Given the description of an element on the screen output the (x, y) to click on. 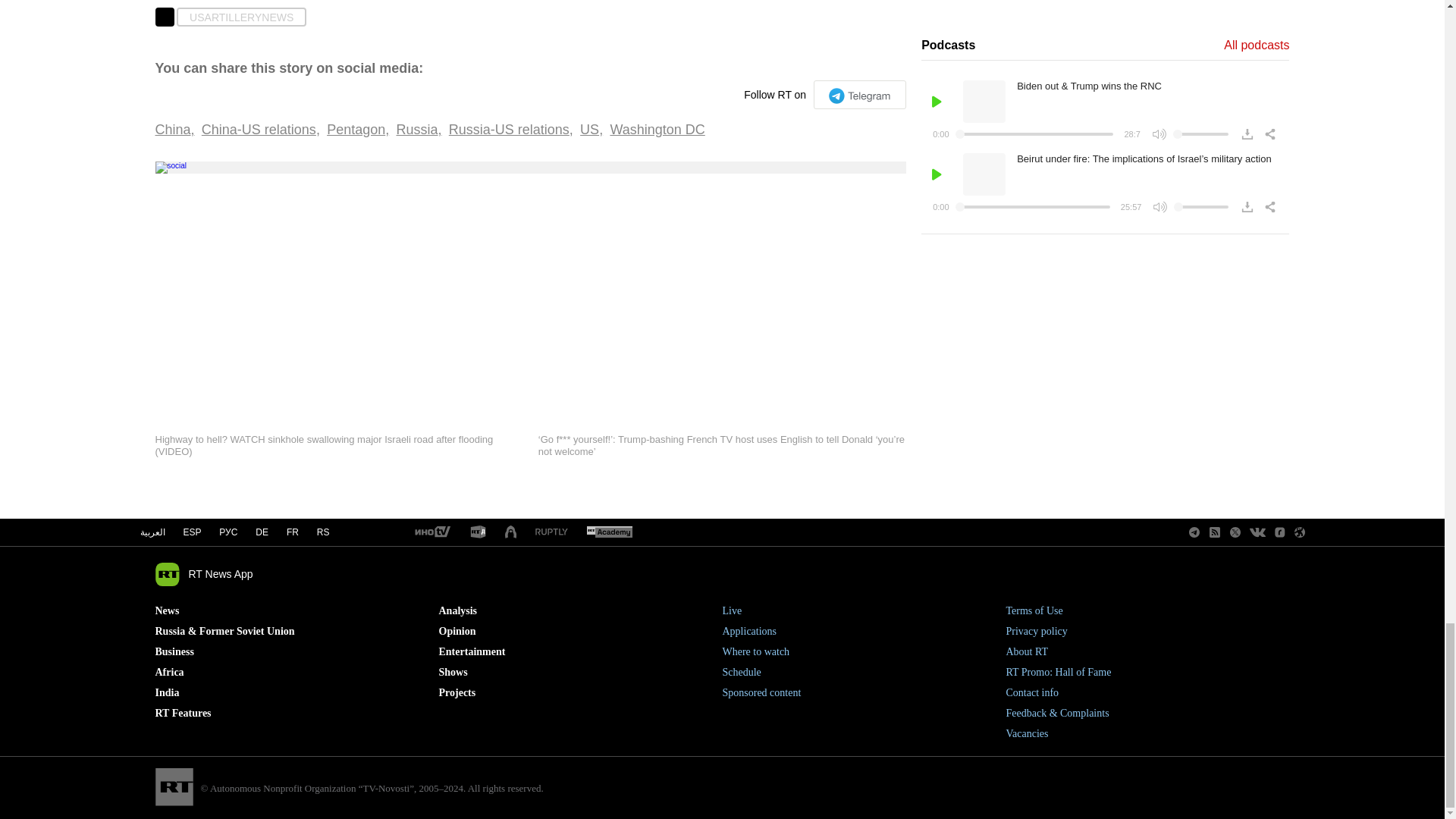
RT  (551, 532)
RT  (431, 532)
RT  (478, 532)
RT  (608, 532)
